Given the description of an element on the screen output the (x, y) to click on. 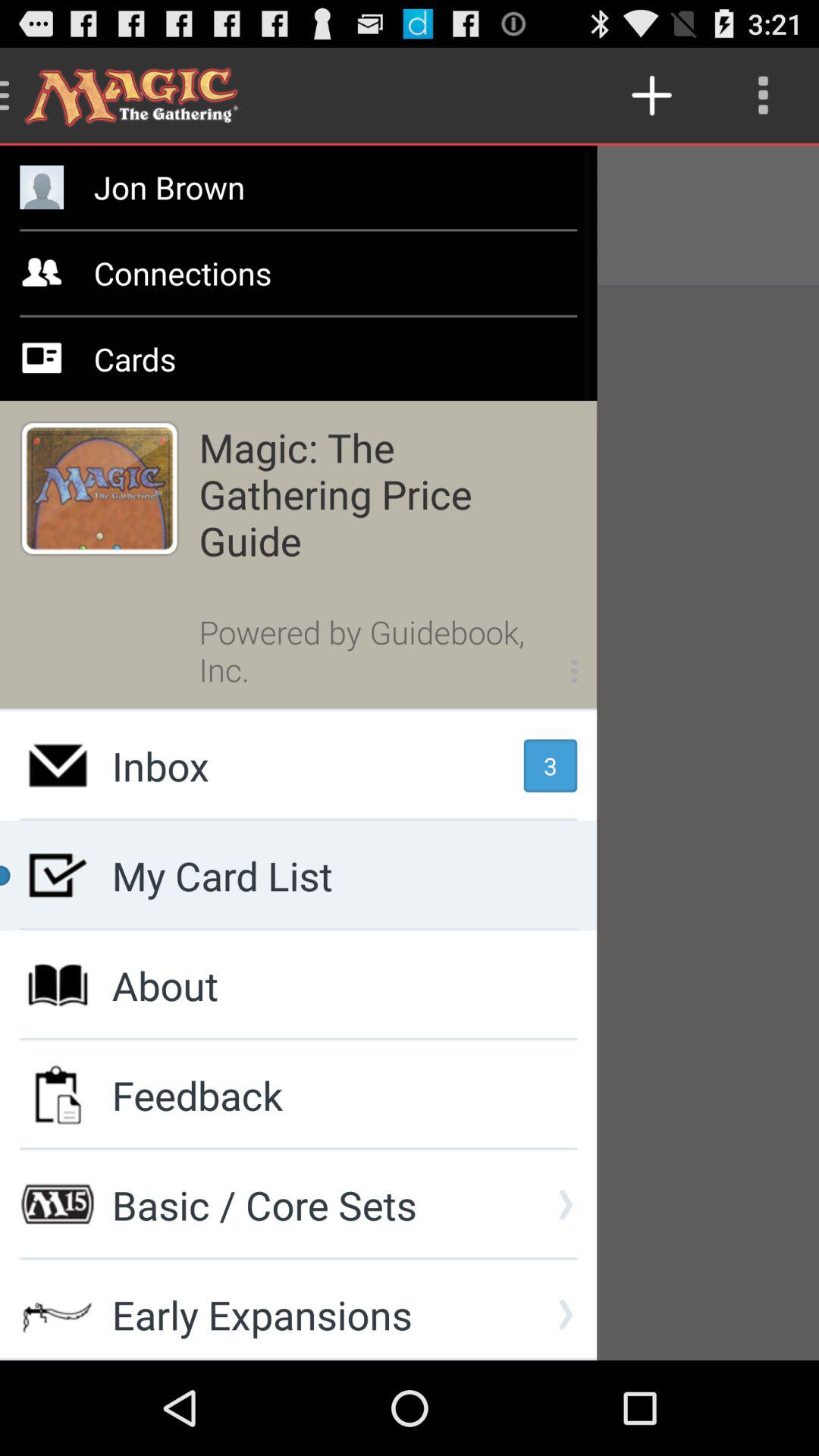
click on the title at top left corner (138, 95)
